Given the description of an element on the screen output the (x, y) to click on. 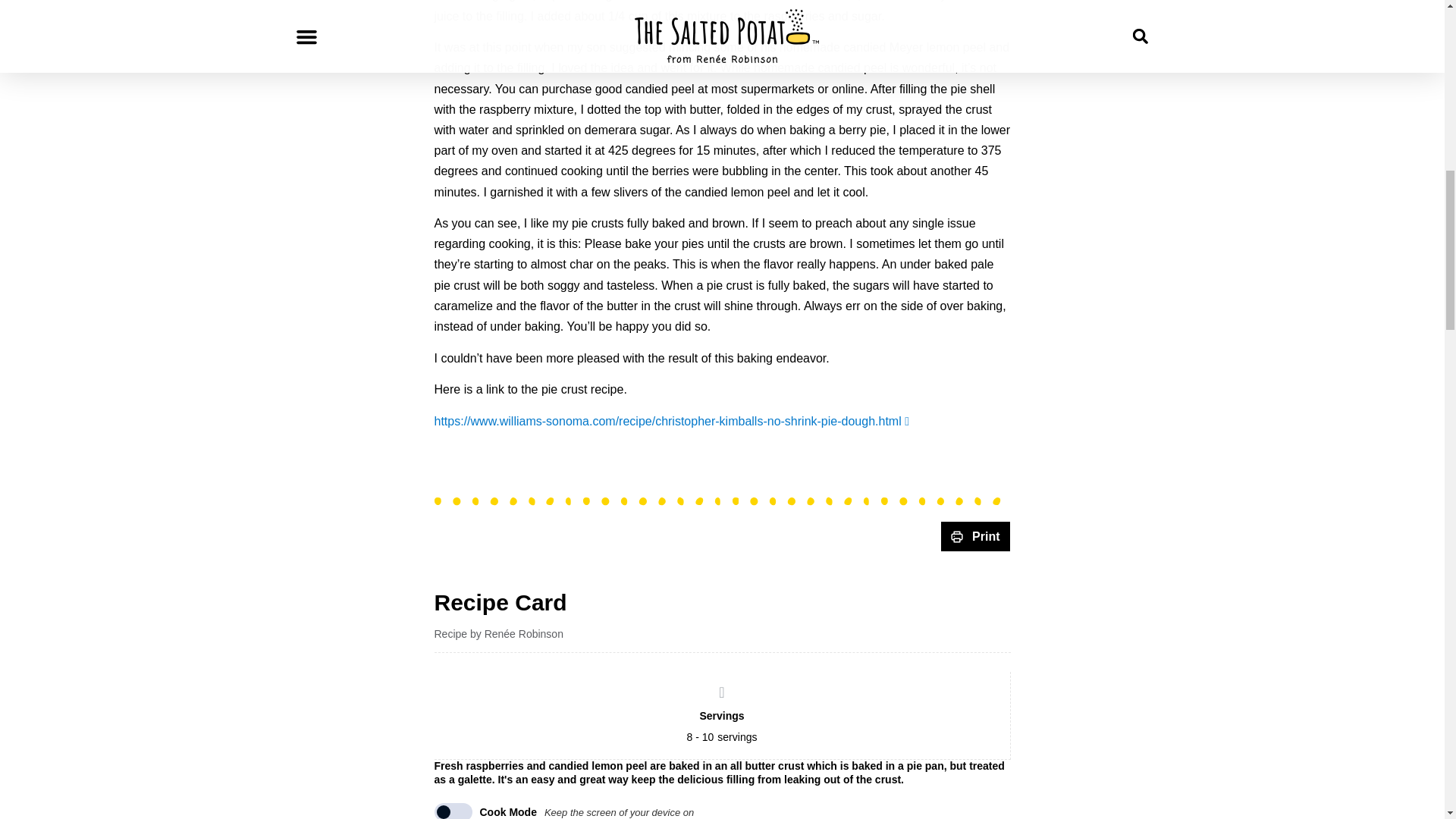
Print (975, 536)
Print directions (975, 536)
